Given the description of an element on the screen output the (x, y) to click on. 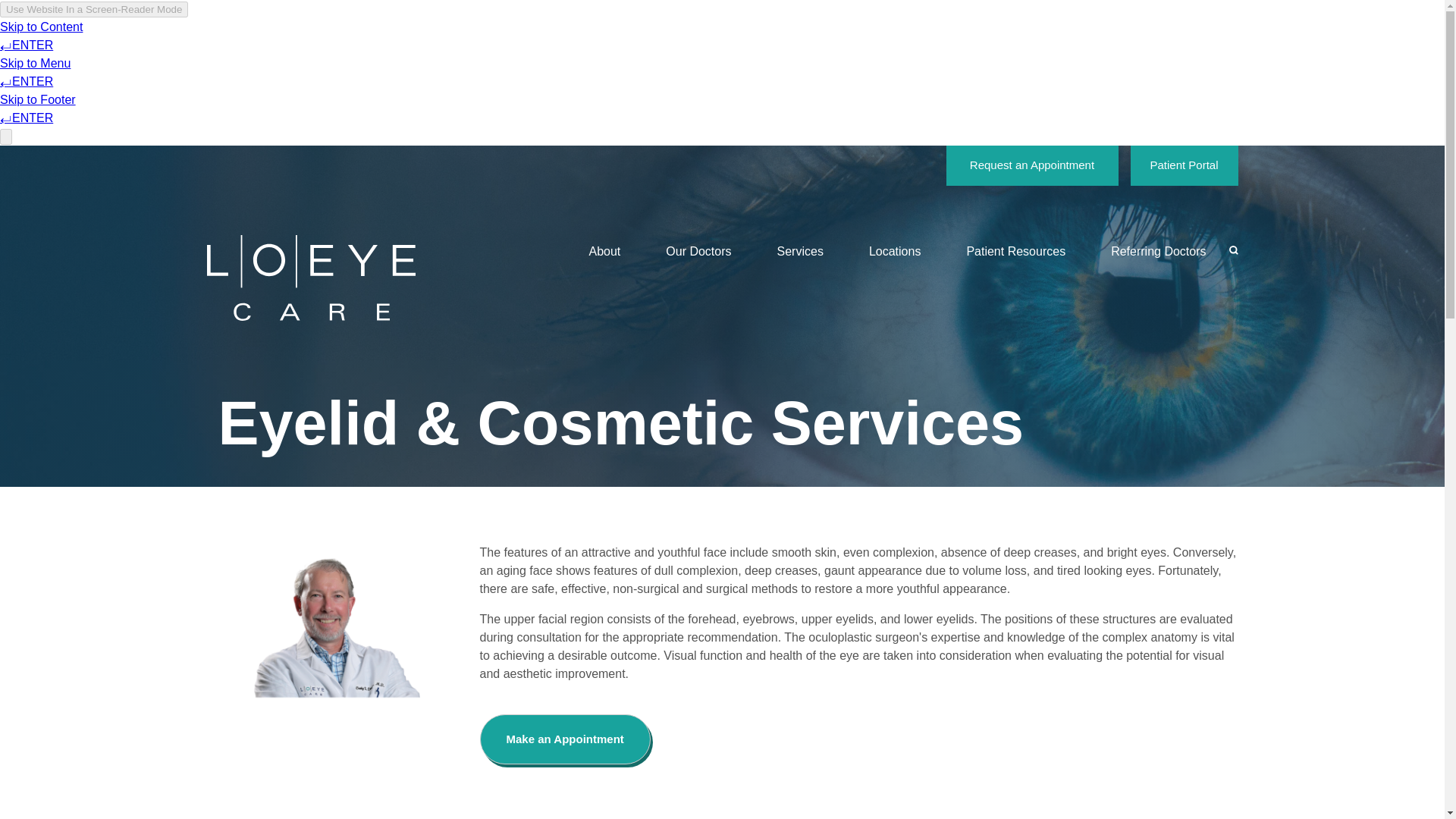
Services (800, 251)
About (603, 251)
Patient Portal (1183, 165)
Patient Resources (1015, 251)
Request an Appointment (1032, 165)
LO Eye Care (310, 278)
Locations (894, 251)
Our Doctors (698, 251)
